Given the description of an element on the screen output the (x, y) to click on. 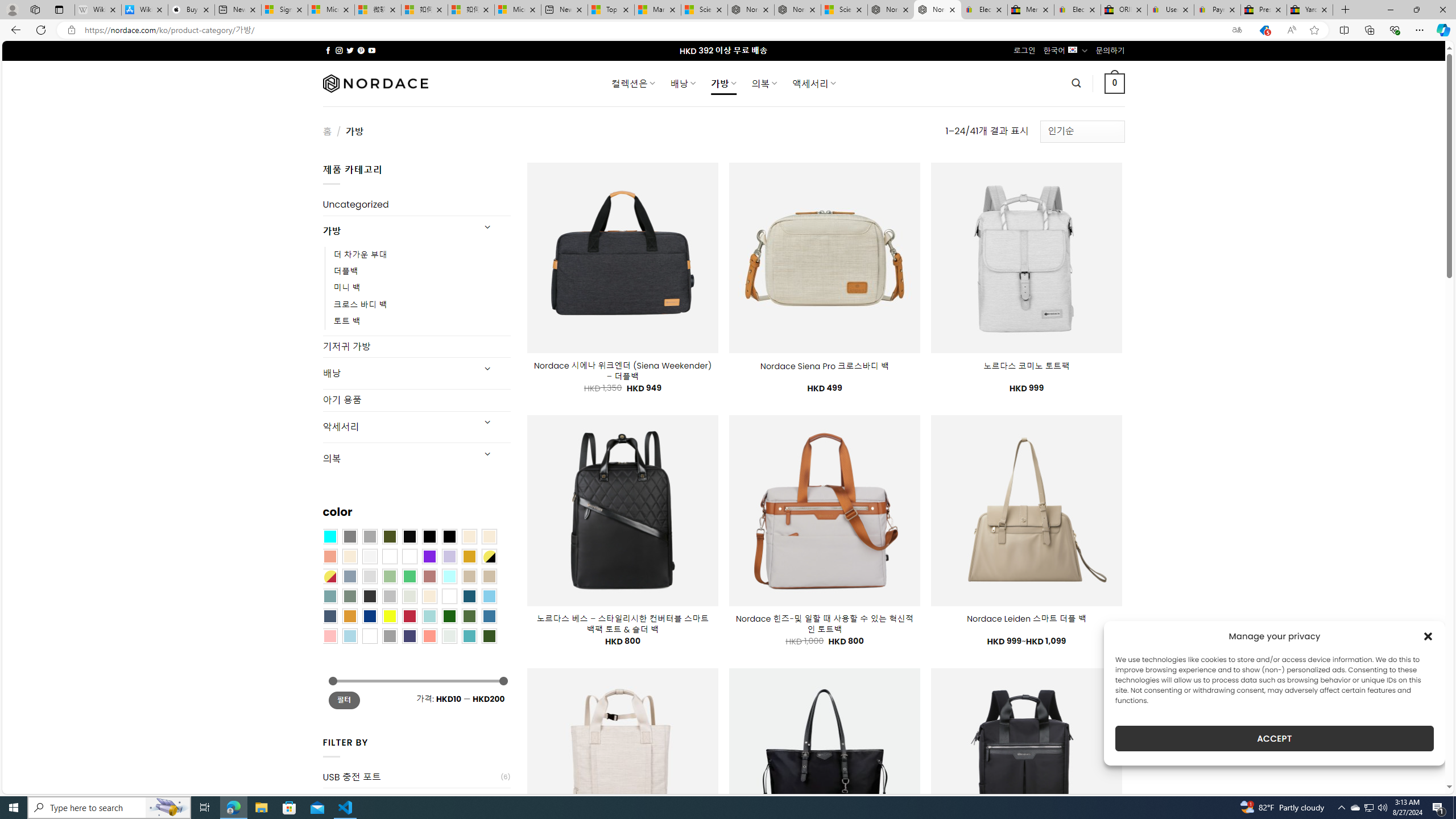
Nordace - Summer Adventures 2024 (890, 9)
Payments Terms of Use | eBay.com (1216, 9)
